Given the description of an element on the screen output the (x, y) to click on. 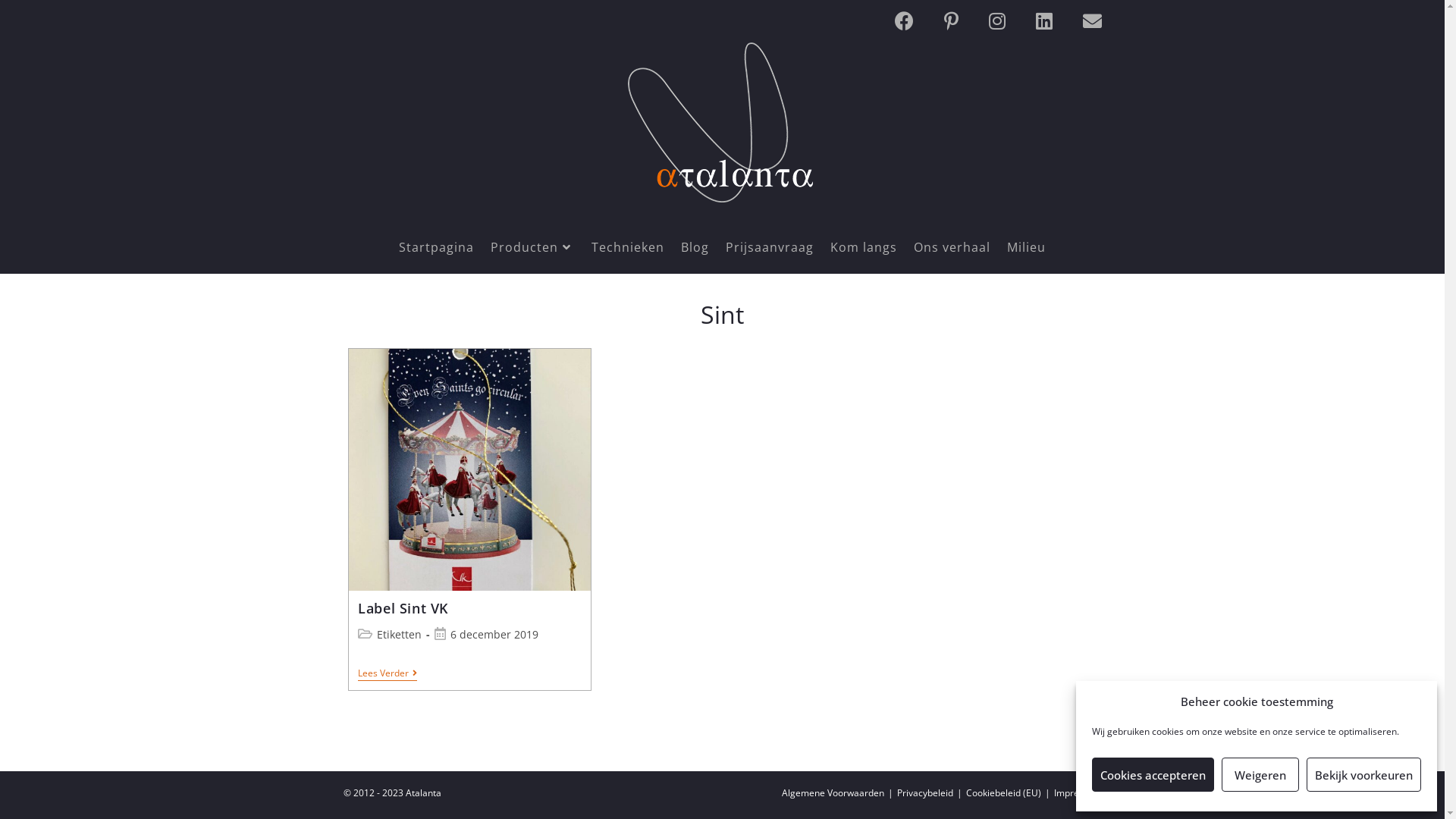
Privacybeleid Element type: text (924, 792)
Cookiebeleid (EU) Element type: text (1003, 792)
Blog Element type: text (694, 246)
Kom langs Element type: text (863, 246)
Milieu Element type: text (1026, 246)
Technieken Element type: text (627, 246)
Lees Verder
Label Sint VK Element type: text (387, 674)
Label Sint VK Element type: text (402, 608)
Bekijk voorkeuren Element type: text (1363, 774)
Weigeren Element type: text (1260, 774)
Etiketten Element type: text (398, 634)
Startpagina Element type: text (436, 246)
Impressum Element type: text (1077, 792)
Prijsaanvraag Element type: text (769, 246)
Algemene Voorwaarden Element type: text (832, 792)
Ons verhaal Element type: text (951, 246)
Producten Element type: text (532, 246)
Cookies accepteren Element type: text (1153, 774)
